Given the description of an element on the screen output the (x, y) to click on. 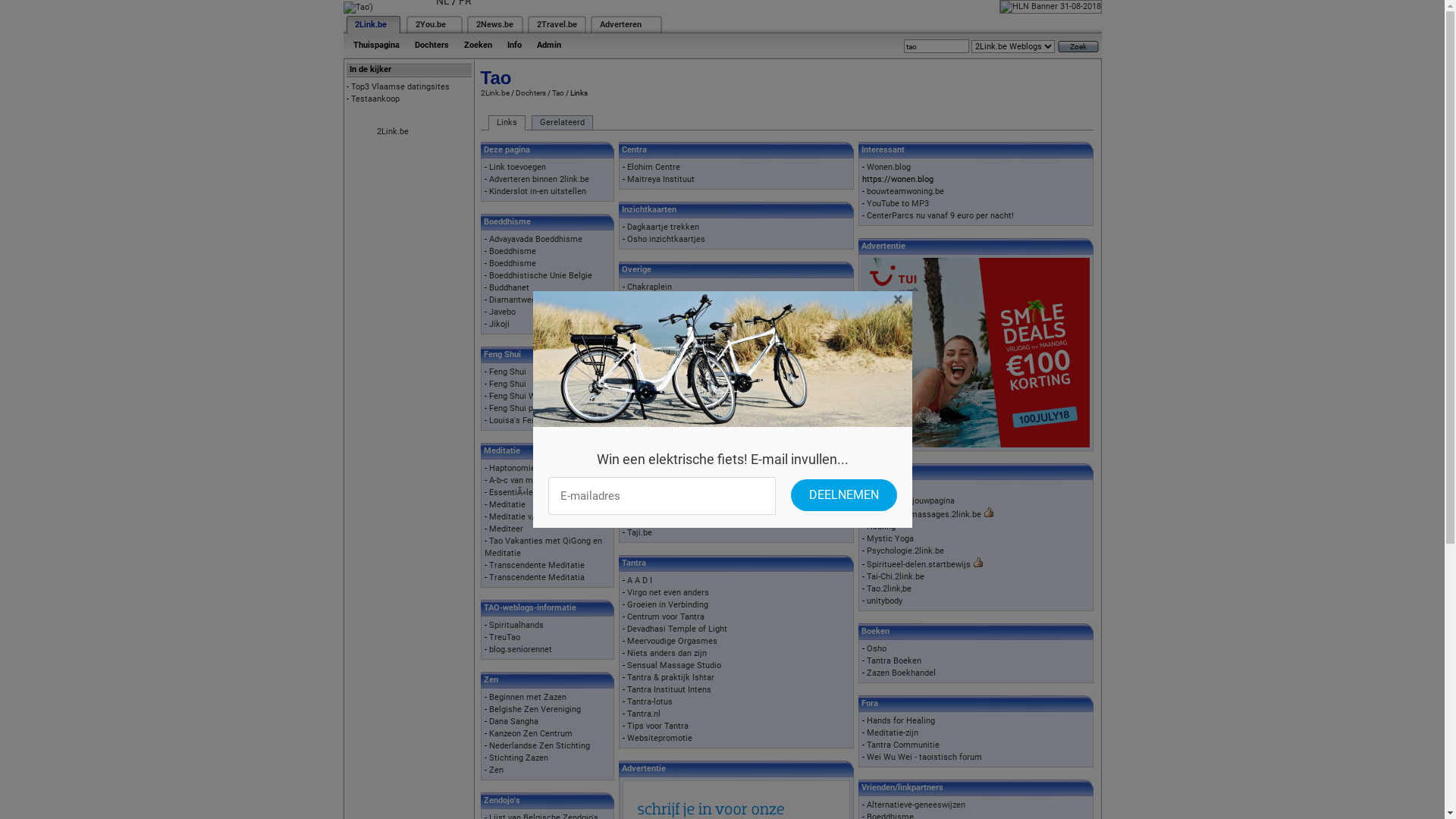
Aardecirkel.jouwpagina Element type: text (909, 500)
2Link.be Element type: text (494, 92)
Mystic Yoga Element type: text (889, 538)
Feng Shui Wonen Element type: text (520, 396)
Alternatieve-geneeswijzen Element type: text (915, 804)
Wei Wu Wei - taoistisch forum Element type: text (923, 757)
Centrum voor Tantra Element type: text (664, 616)
Links Element type: text (506, 122)
Virgo net even anders Element type: text (667, 592)
Meditatie-zijn Element type: text (891, 732)
Websitepromotie Element type: text (658, 738)
De Zachte Kracht Element type: text (659, 484)
Dochters Element type: text (530, 92)
Gele Draak Element type: text (647, 312)
Tao.2link,be Element type: text (888, 588)
Healing Element type: text (880, 526)
A A D I Element type: text (638, 580)
Buddhanet Element type: text (508, 287)
Tai Ji Element type: text (636, 520)
Niets anders dan zijn Element type: text (666, 653)
Tantra-lotus Element type: text (648, 701)
Boeddhisme Element type: text (511, 251)
Advayavada Boeddhisme Element type: text (534, 239)
Tao Vakanties met QiGong en Meditatie Element type: text (542, 547)
Beginnen met Zazen Element type: text (526, 697)
Nederlandse Zen Stichting Element type: text (538, 745)
Feng Shui Element type: text (506, 384)
Stichting Zazen Element type: text (517, 757)
Sushumna Element type: text (646, 434)
Osho Element type: text (875, 648)
Tao Element type: text (558, 92)
Tai Chi School Element type: text (653, 496)
Partnermassage Element type: text (657, 422)
Hands for Healing Element type: text (900, 720)
A-b-c van meditatie Element type: text (524, 480)
Boeddhisme Element type: text (511, 263)
Adverteren binnen 2link.be Element type: text (538, 179)
CenterParcs nu vanaf 9 euro per nacht! Element type: text (939, 215)
Thuispagina Element type: text (376, 45)
Helende Reis Element type: text (651, 398)
2You.be Element type: text (430, 24)
YouTube to MP3 Element type: text (897, 203)
Weteloos! Element type: text (645, 324)
Dagkaartje trekken Element type: text (662, 227)
Taji.be Element type: text (638, 532)
Spiritueel-delen.startbewijs Element type: text (917, 564)
Transcendente Meditatie Element type: text (535, 565)
blog.seniorennet Element type: text (519, 649)
Reiki Element type: text (875, 488)
Maitreya Instituut Element type: text (659, 179)
Spiritualhands Element type: text (515, 625)
Wonen.blog Element type: text (888, 167)
Elohim Centre Element type: text (652, 167)
Feng Shui Element type: text (506, 371)
Drukpuntenmassages.2link.be Element type: text (923, 514)
Tantra.nl Element type: text (642, 713)
Jikoji Element type: text (498, 324)
Boeddhistische Unie Belgie Element type: text (539, 275)
Groeien in Verbinding Element type: text (666, 604)
Tai-Chi.2link.be Element type: text (894, 576)
Haptonomie Element type: text (511, 468)
De Kleyne kring Element type: text (655, 300)
Adverteren Element type: text (619, 24)
2Travel.be Element type: text (556, 24)
Belgishe Zen Vereniging Element type: text (534, 709)
2News.be Element type: text (494, 24)
Tantra Instituut Intens Element type: text (668, 689)
bouwteamwoning.be Element type: text (904, 191)
Tantra Boeken Element type: text (893, 660)
Mediteer Element type: text (505, 528)
Psychologie.2link.be Element type: text (904, 550)
Tantra Communitie Element type: text (902, 744)
Louisa's Feng Shui Site Element type: text (532, 420)
Chakraplein Element type: text (648, 286)
Info Element type: text (513, 45)
Zoeken Element type: text (477, 45)
Zazen Boekhandel Element type: text (900, 672)
Tips voor Tantra Element type: text (656, 726)
Osho inzichtkaartjes Element type: text (665, 239)
Meditatie Element type: text (506, 504)
Top3 Vlaamse datingsites Element type: text (399, 86)
Kinderslot in-en uitstellen Element type: text (536, 191)
Kanzeon Zen Centrum Element type: text (529, 733)
Testaankoop Element type: text (374, 98)
Zen Element type: text (495, 770)
Gerelateerd Element type: text (561, 122)
Diamantweg-boeddhisme Element type: text (535, 299)
Javebo Element type: text (501, 311)
Tai Chi: meditatie in beweging Element type: text (683, 508)
De-luna Element type: text (640, 410)
Dochters Element type: text (430, 45)
Tantra & praktijk Ishtar Element type: text (669, 677)
Admin Element type: text (548, 45)
Meditatie v/d Week Element type: text (525, 516)
2Link.be Element type: text (370, 24)
Dana Sangha Element type: text (512, 721)
2Link.be Element type: text (391, 131)
TreuTao Element type: text (503, 637)
Zoek Element type: text (1077, 46)
Transcendente Meditatia Element type: text (535, 577)
Devadhasi Temple of Light Element type: text (676, 628)
Meervoudige Orgasmes Element type: text (671, 641)
unitybody Element type: text (883, 600)
Feng Shui planning & design Element type: text (541, 408)
A A D I Element type: text (638, 386)
Zachte Kracht Element type: text (653, 338)
Link toevoegen Element type: text (516, 167)
Sensual Massage Studio Element type: text (673, 665)
